Given the description of an element on the screen output the (x, y) to click on. 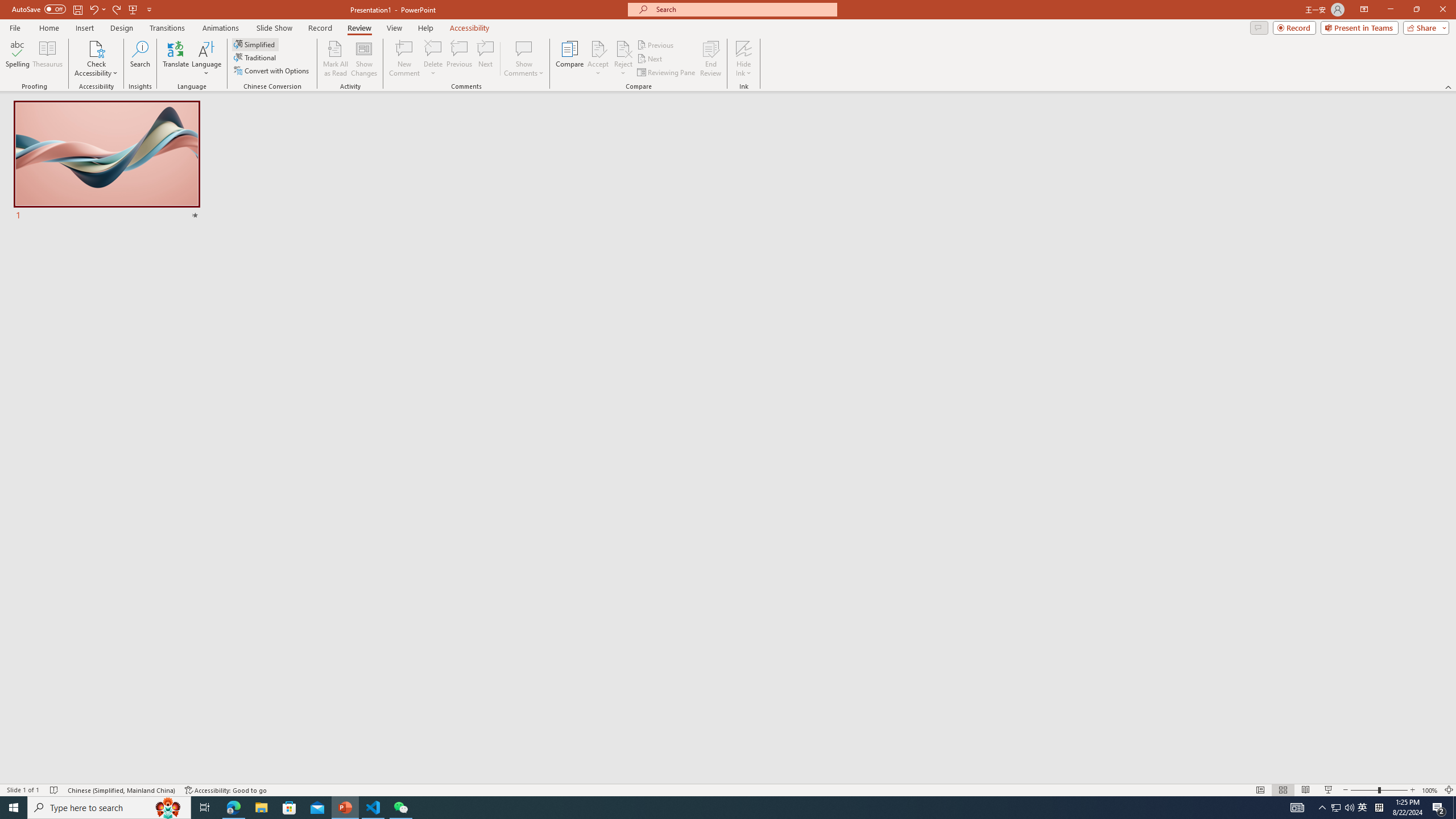
Reject (622, 58)
Reading View (1305, 790)
Help (425, 28)
Design (122, 28)
From Beginning (133, 9)
Review (359, 28)
Accessibility Checker Accessibility: Good to go (226, 790)
Comments (1259, 27)
Customize Quick Access Toolbar (149, 9)
More Options (743, 68)
Mark All as Read (335, 58)
System (6, 6)
Insert (83, 28)
Close (1442, 9)
